Given the description of an element on the screen output the (x, y) to click on. 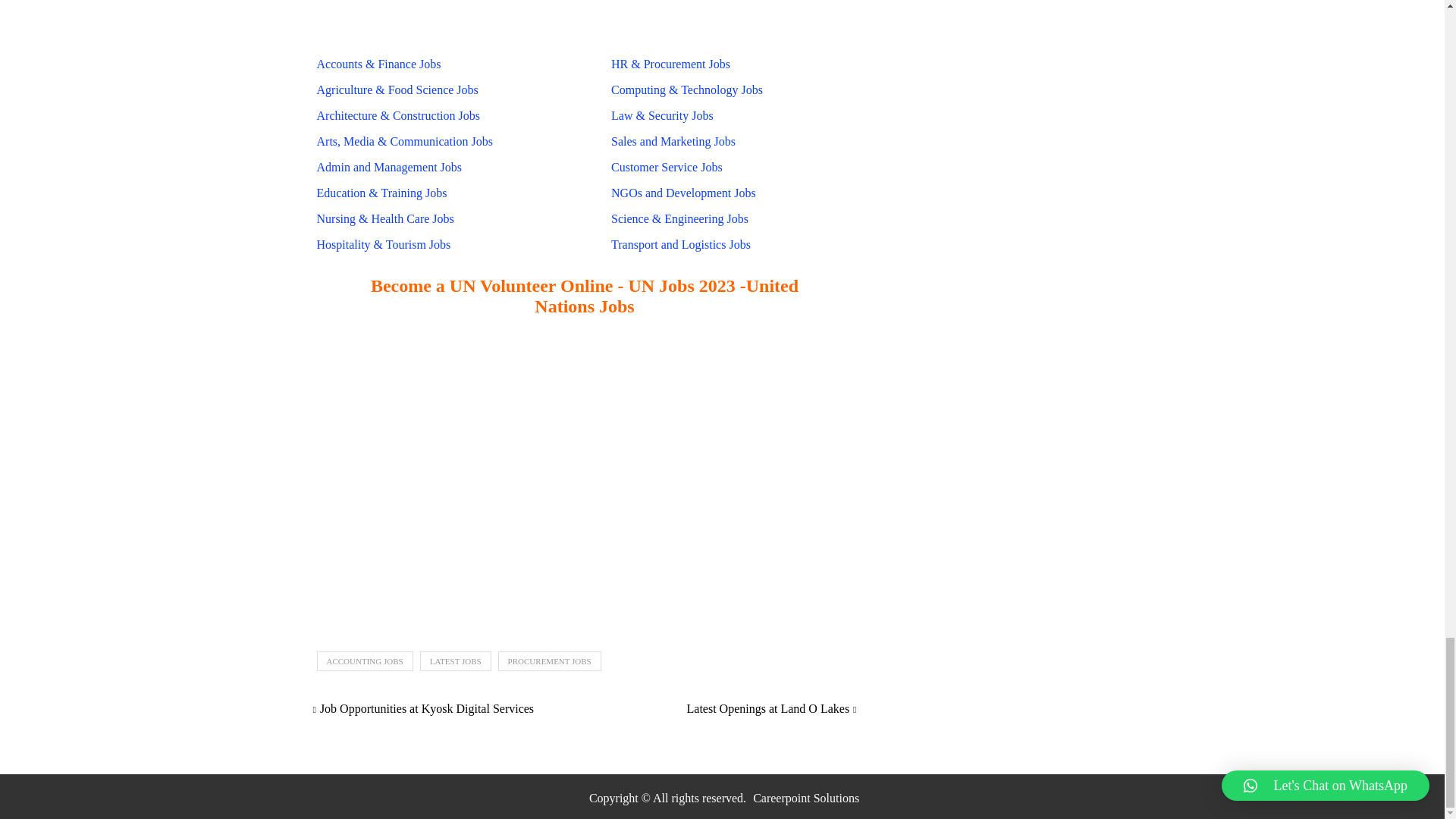
LATEST JOBS (456, 660)
Latest Openings at Land O Lakes (771, 708)
Transport and Logistics Jobs (680, 244)
Customer Service Jobs (666, 167)
Job Opportunities at Kyosk Digital Services (423, 708)
ACCOUNTING JOBS (365, 660)
Admin and Management Jobs (389, 167)
Sales and Marketing Jobs (673, 141)
NGOs and Development Jobs (683, 192)
PROCUREMENT JOBS (549, 660)
